Given the description of an element on the screen output the (x, y) to click on. 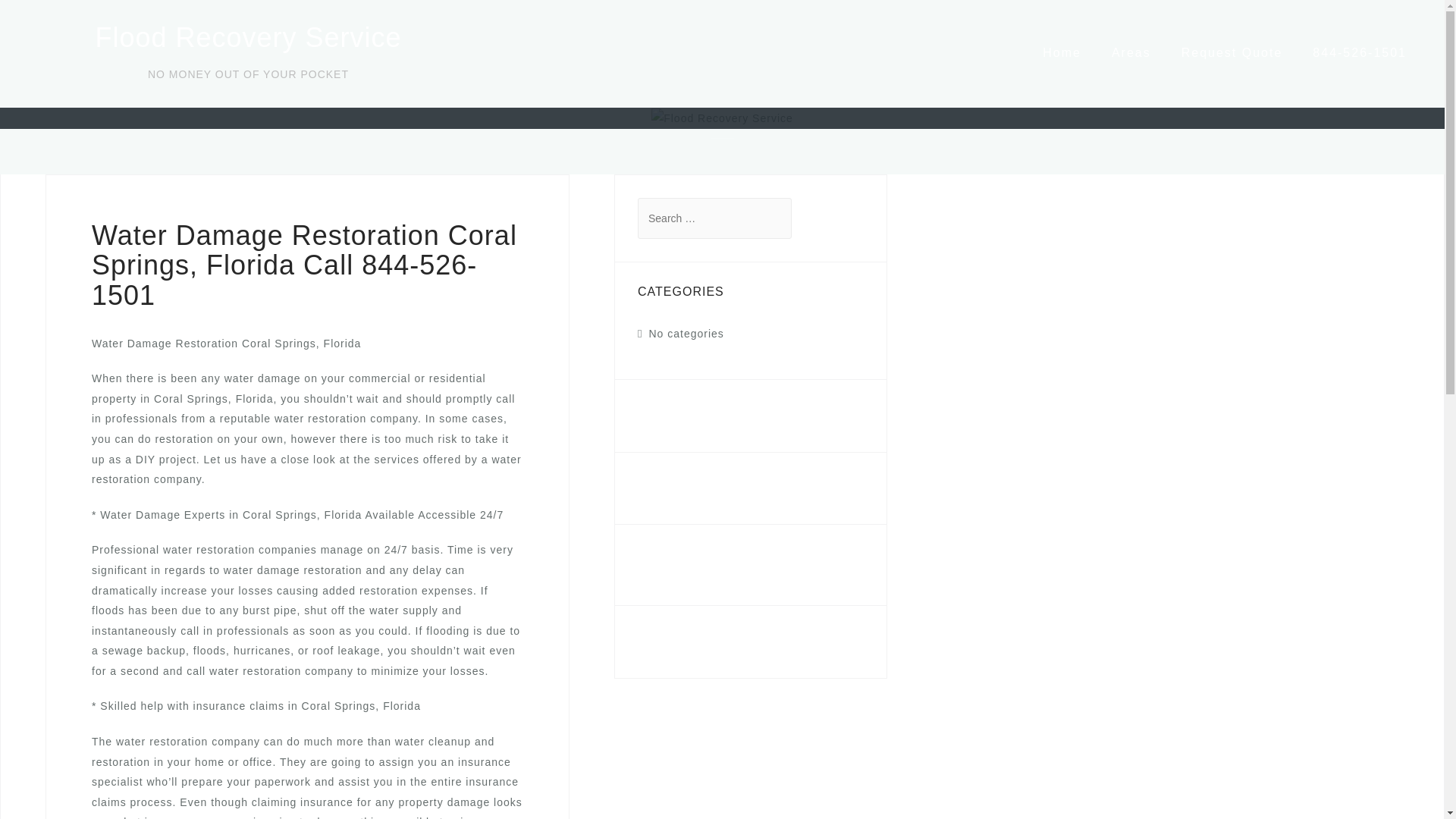
844-526-1501 (675, 557)
844-526-1501 (1359, 52)
Home (1061, 52)
Search (54, 20)
REQUEST A QUOTE (707, 641)
Request Quote (1231, 52)
Flood Recovery Service (247, 37)
OUR BLOG (676, 415)
Areas (1131, 52)
LOCATIONS (679, 488)
